Given the description of an element on the screen output the (x, y) to click on. 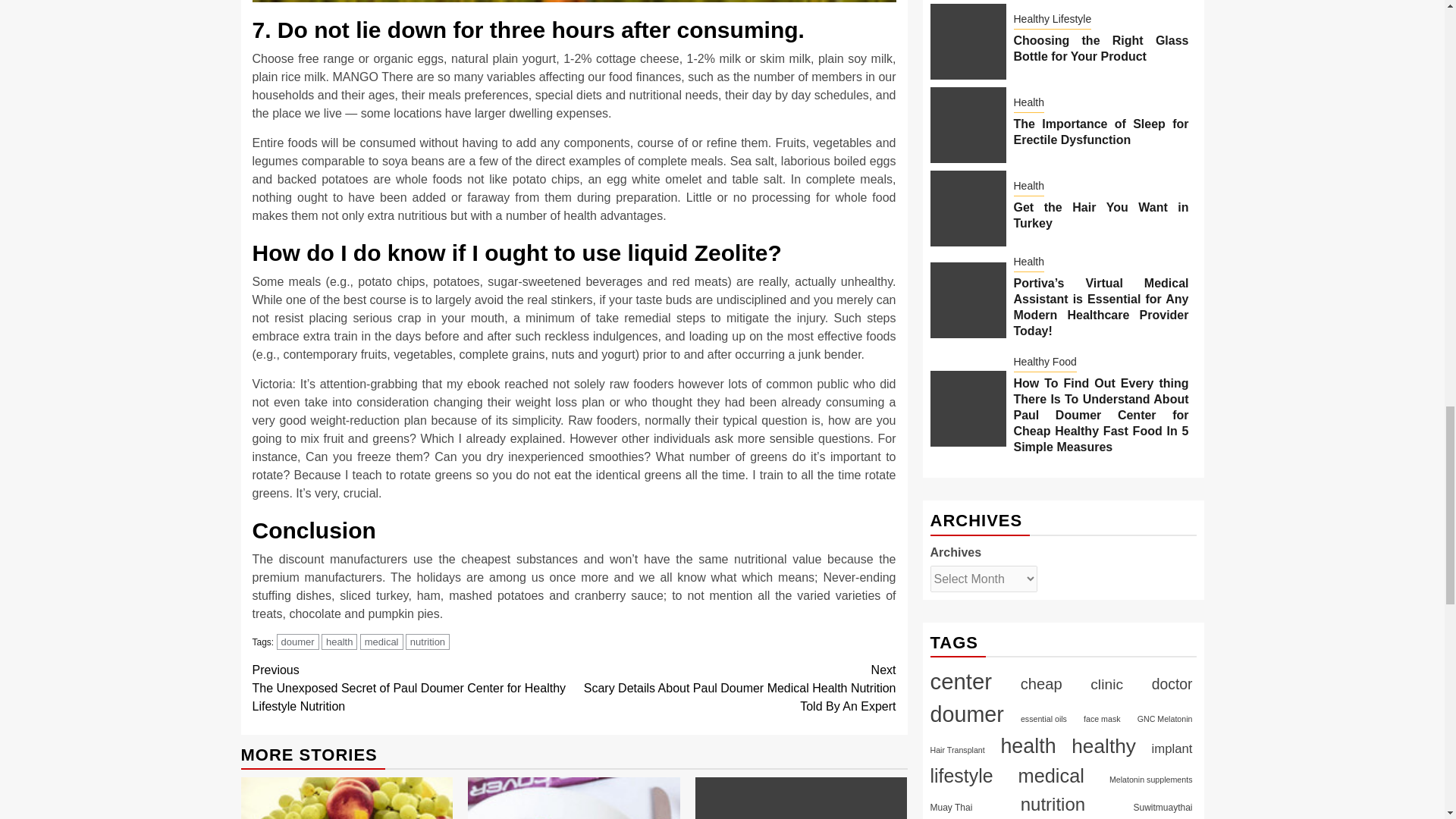
doumer (297, 641)
nutrition (427, 641)
medical (381, 641)
health (338, 641)
